Given the description of an element on the screen output the (x, y) to click on. 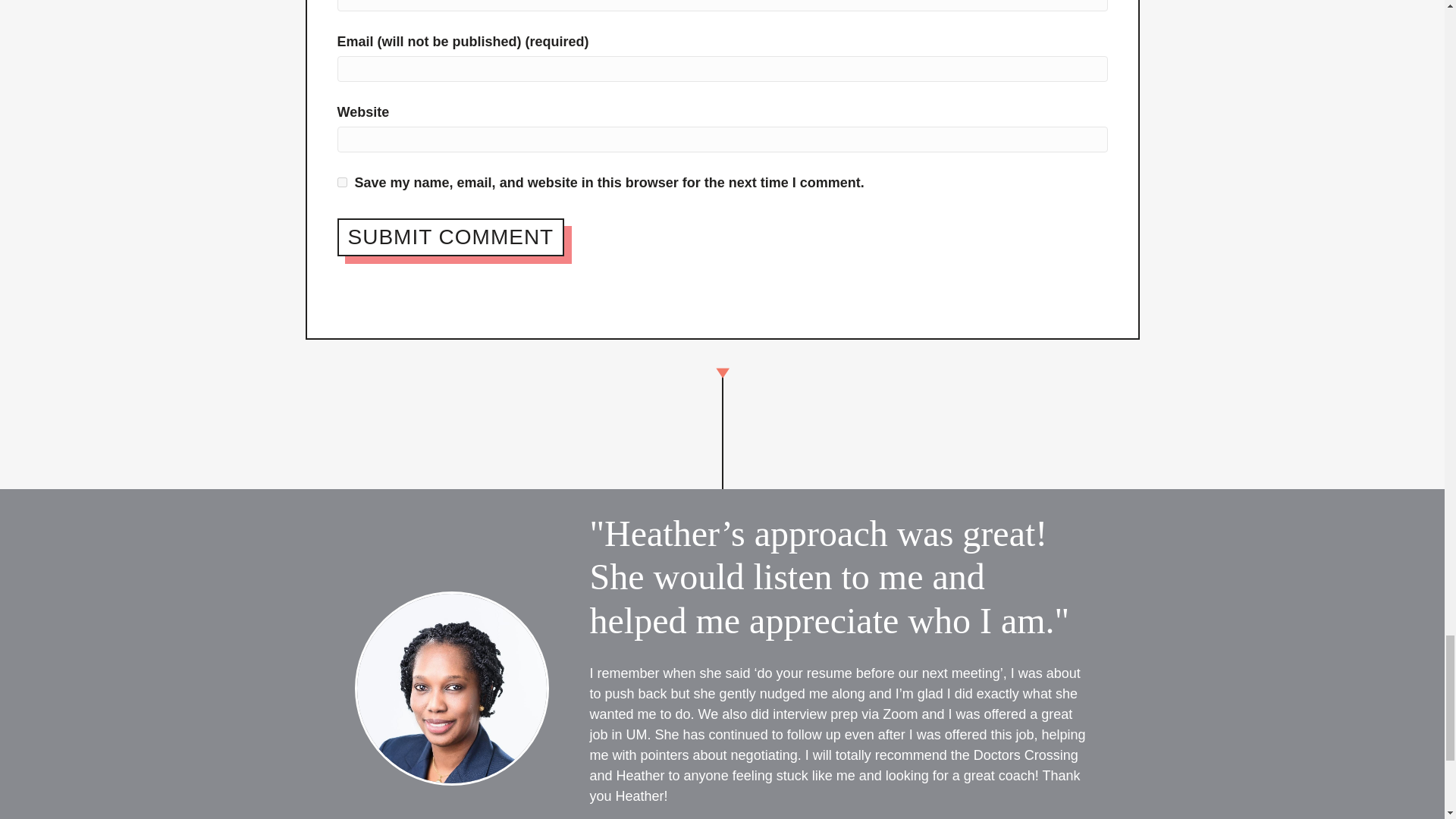
yes (341, 182)
modupe (451, 688)
Submit Comment (450, 237)
